Given the description of an element on the screen output the (x, y) to click on. 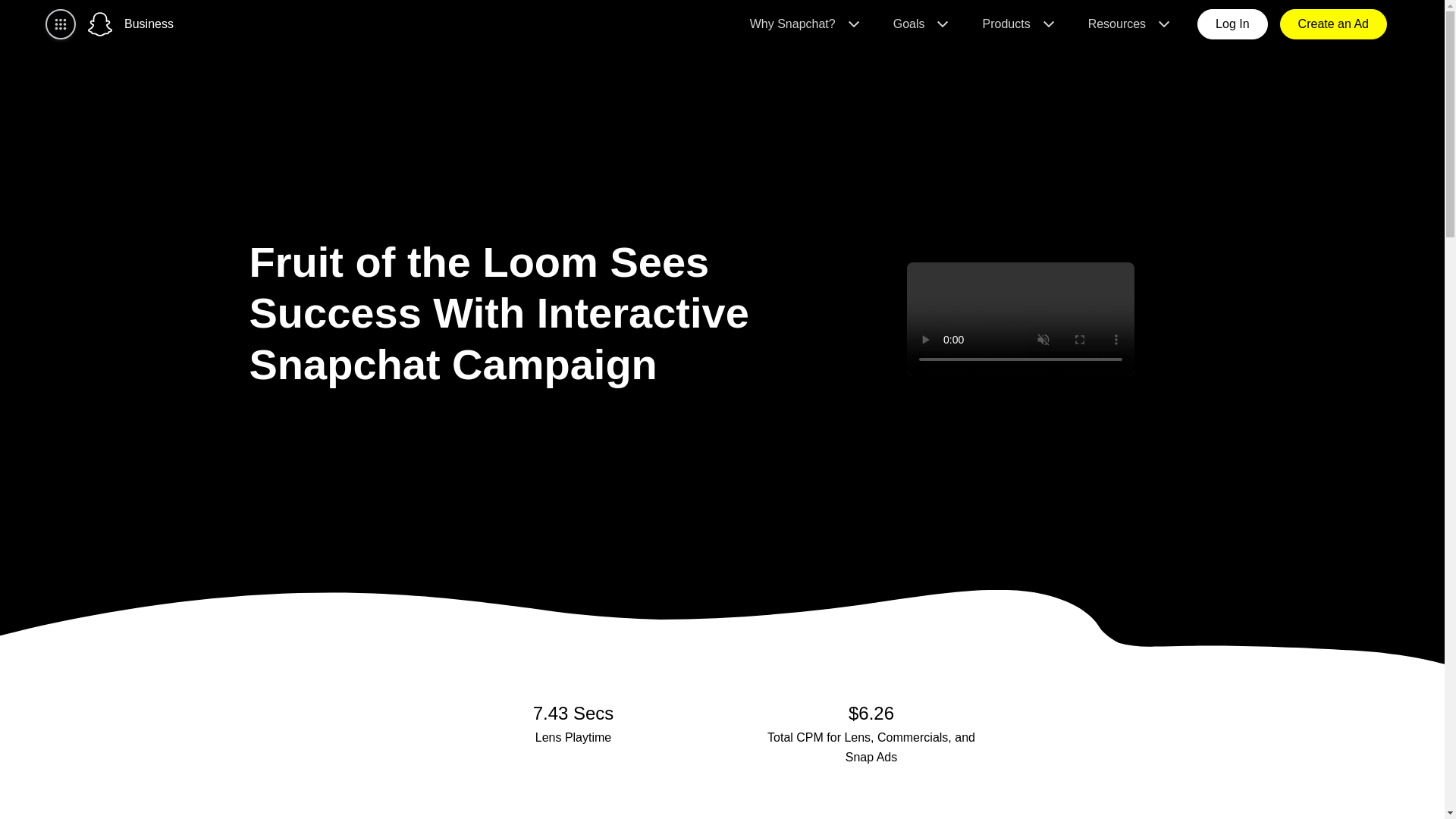
Create an Ad (1333, 24)
Business (148, 24)
Products (1016, 24)
Log In (1231, 24)
Goals (919, 24)
Resources (1127, 24)
Why Snapchat? (803, 24)
